Given the description of an element on the screen output the (x, y) to click on. 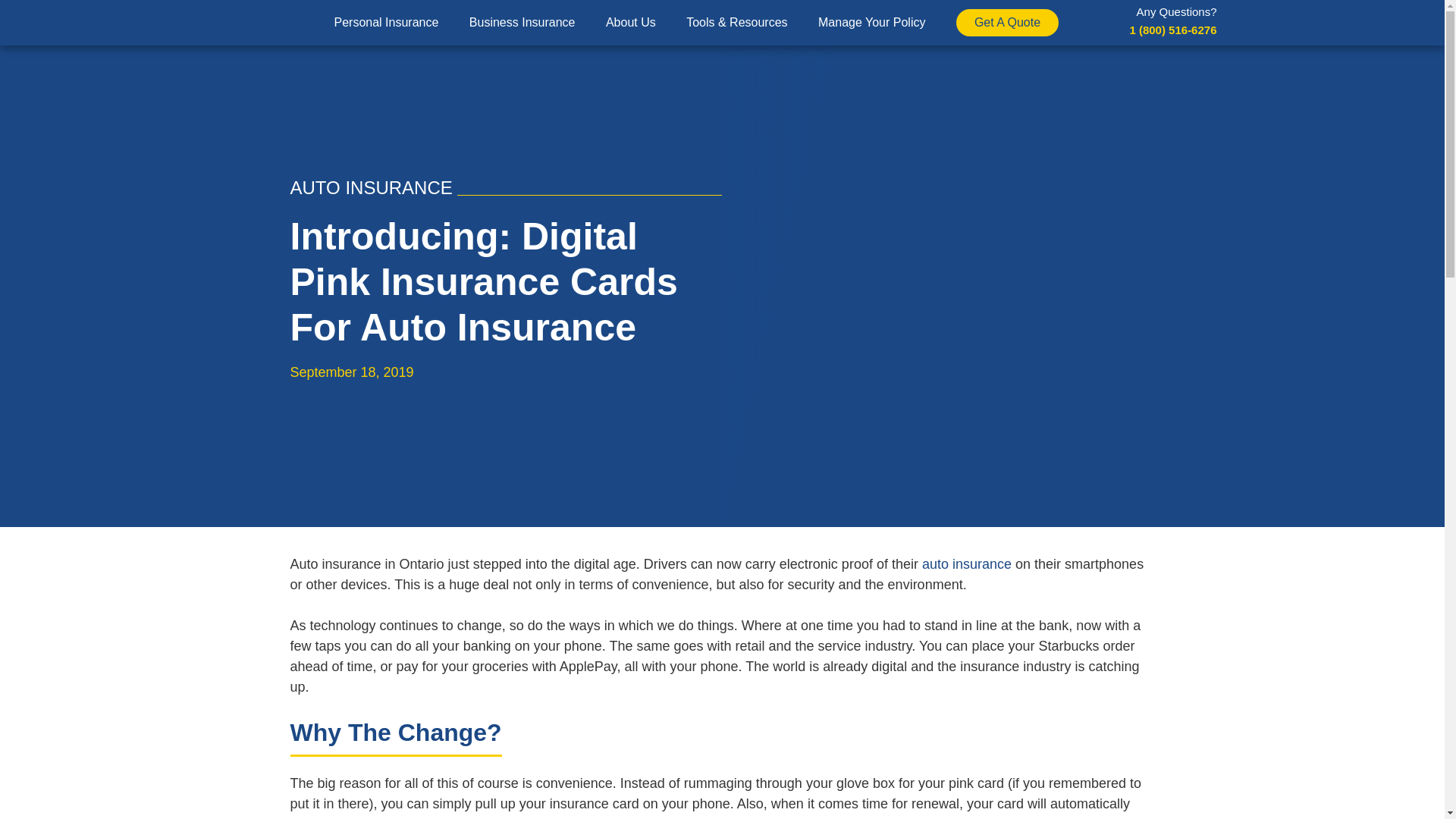
Business Insurance (521, 22)
Personal Insurance (385, 22)
